Given the description of an element on the screen output the (x, y) to click on. 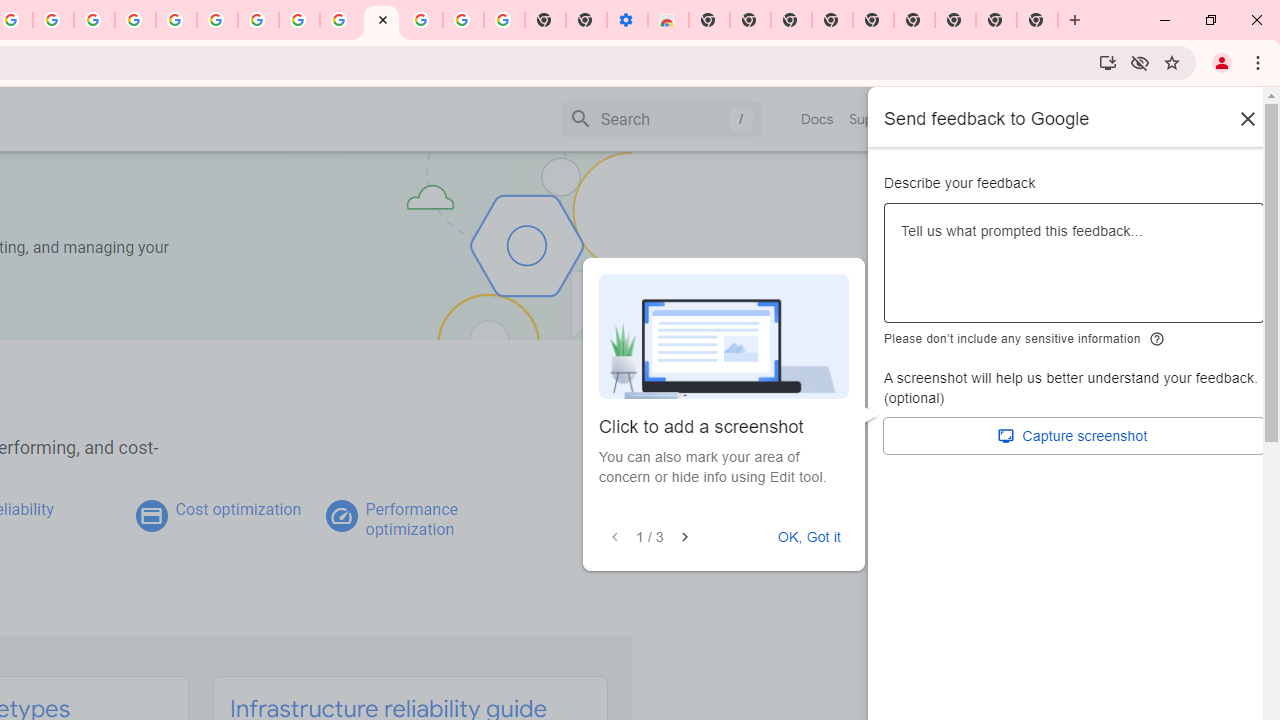
Start free (1191, 118)
Previous (615, 537)
Browse the Google Chrome Community - Google Chrome Community (340, 20)
Docs (817, 119)
Support (874, 119)
Sign in - Google Accounts (176, 20)
Install Google Cloud (1107, 62)
Create your Google Account (53, 20)
